Given the description of an element on the screen output the (x, y) to click on. 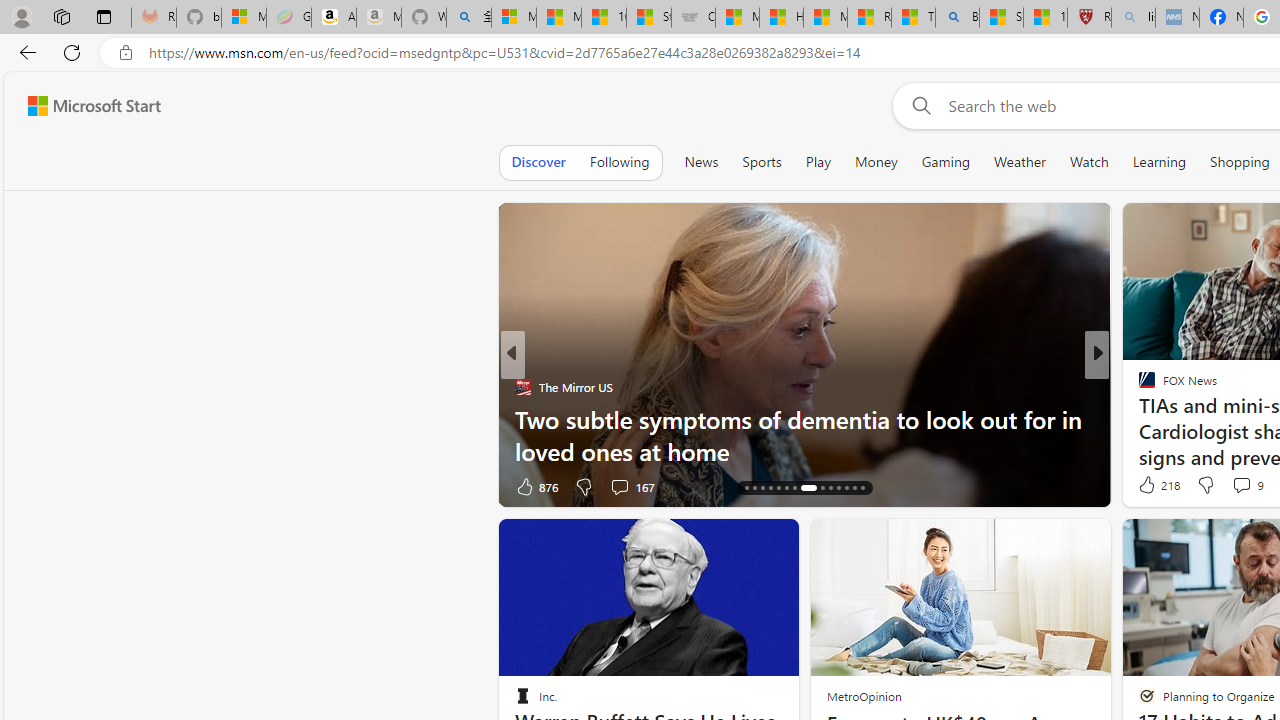
View comments 167 Comment (619, 485)
4 Like (1145, 486)
Constative (1138, 386)
AutomationID: tab-18 (769, 487)
Shopping (1240, 161)
AutomationID: tab-22 (808, 487)
